Given the description of an element on the screen output the (x, y) to click on. 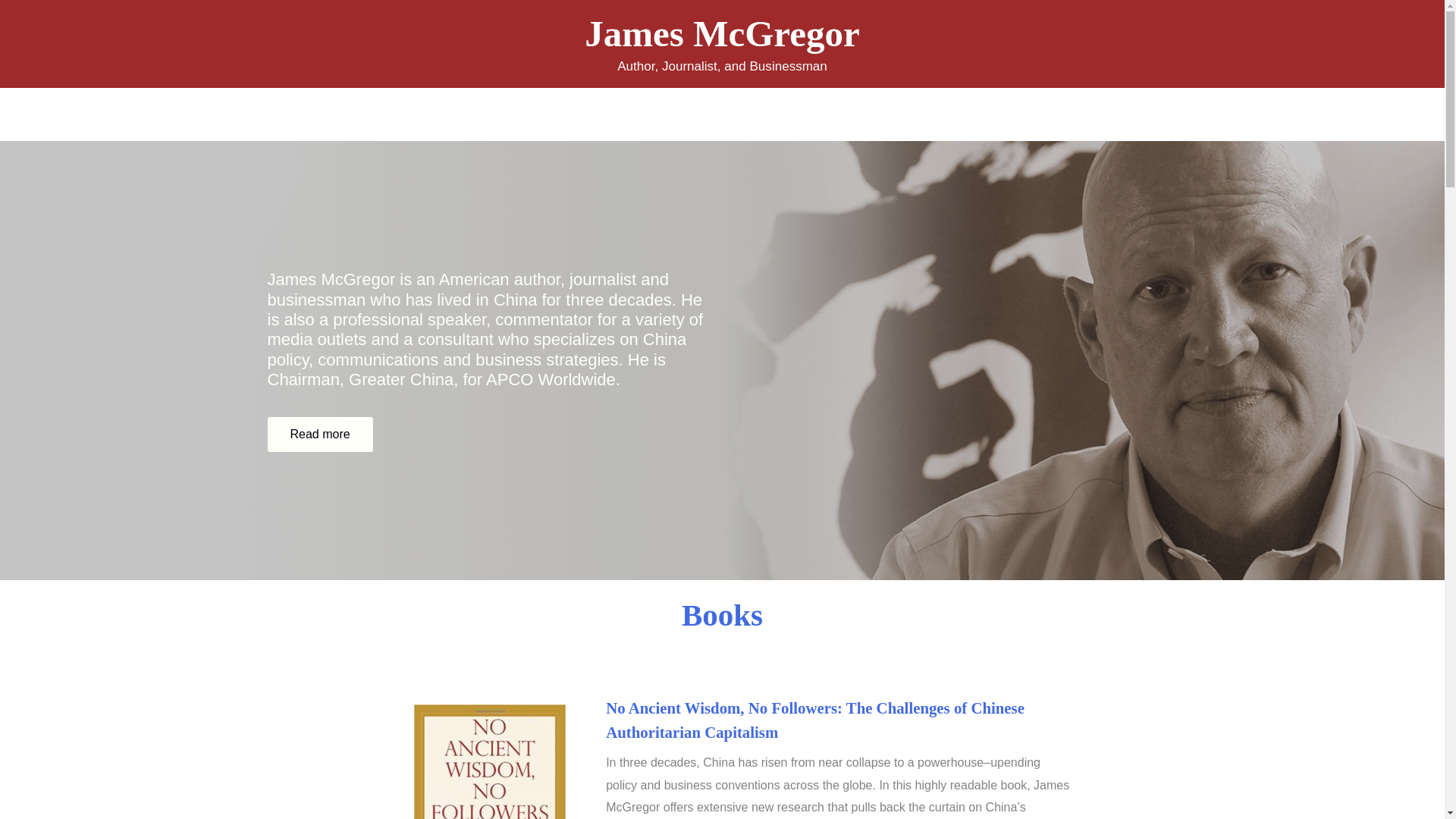
Consulting (740, 113)
In the News (829, 113)
James McGregor (722, 33)
Books (721, 614)
About (530, 113)
Books (590, 113)
Speaking (658, 113)
Read more (319, 434)
Contact (909, 113)
